Given the description of an element on the screen output the (x, y) to click on. 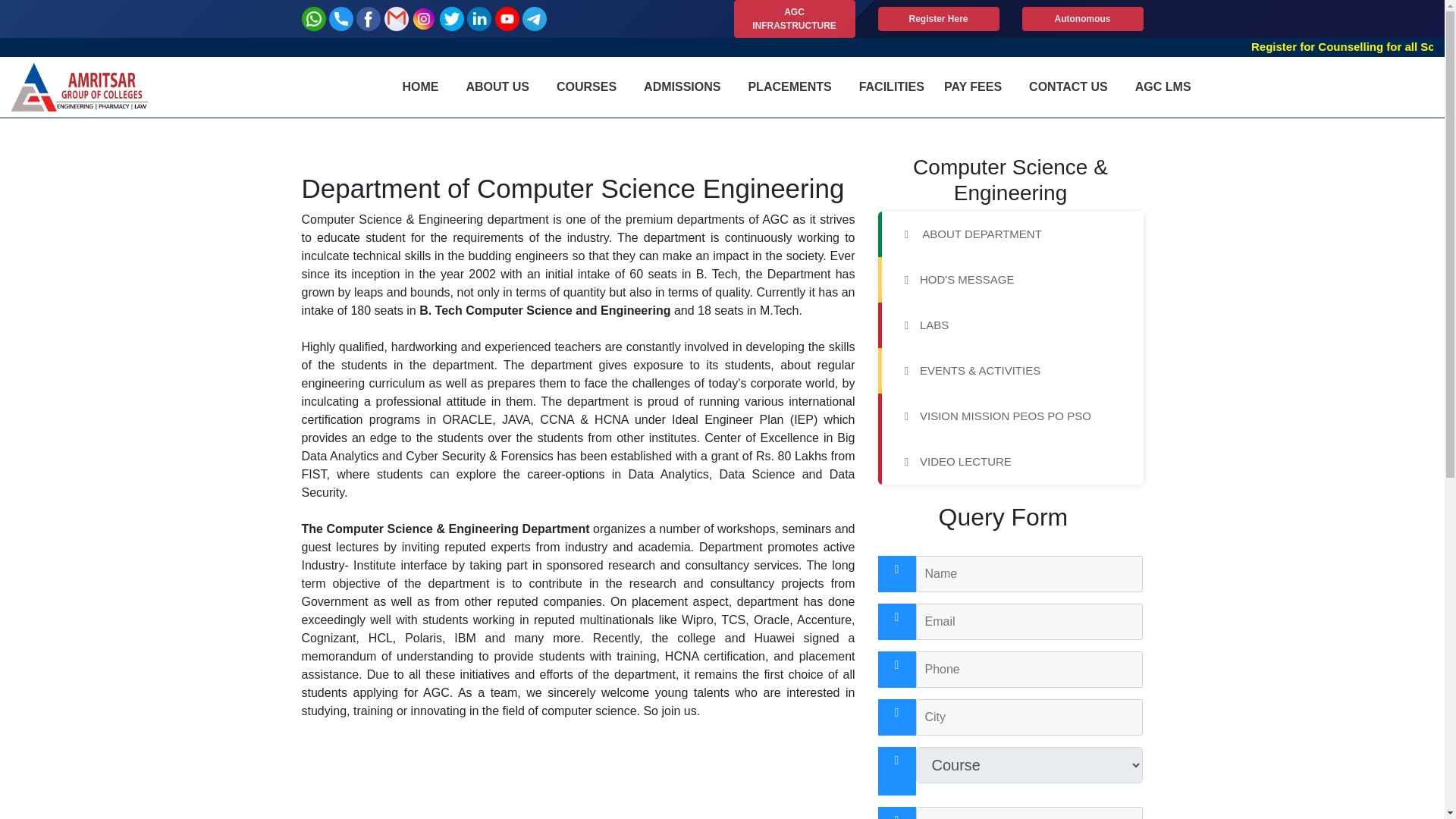
AGC logo (79, 87)
HOME (420, 87)
Register Here (937, 18)
COURSES (586, 87)
AGC INFRASTRUCTURE (794, 18)
Autonomous (1082, 18)
ABOUT US (497, 87)
